Given the description of an element on the screen output the (x, y) to click on. 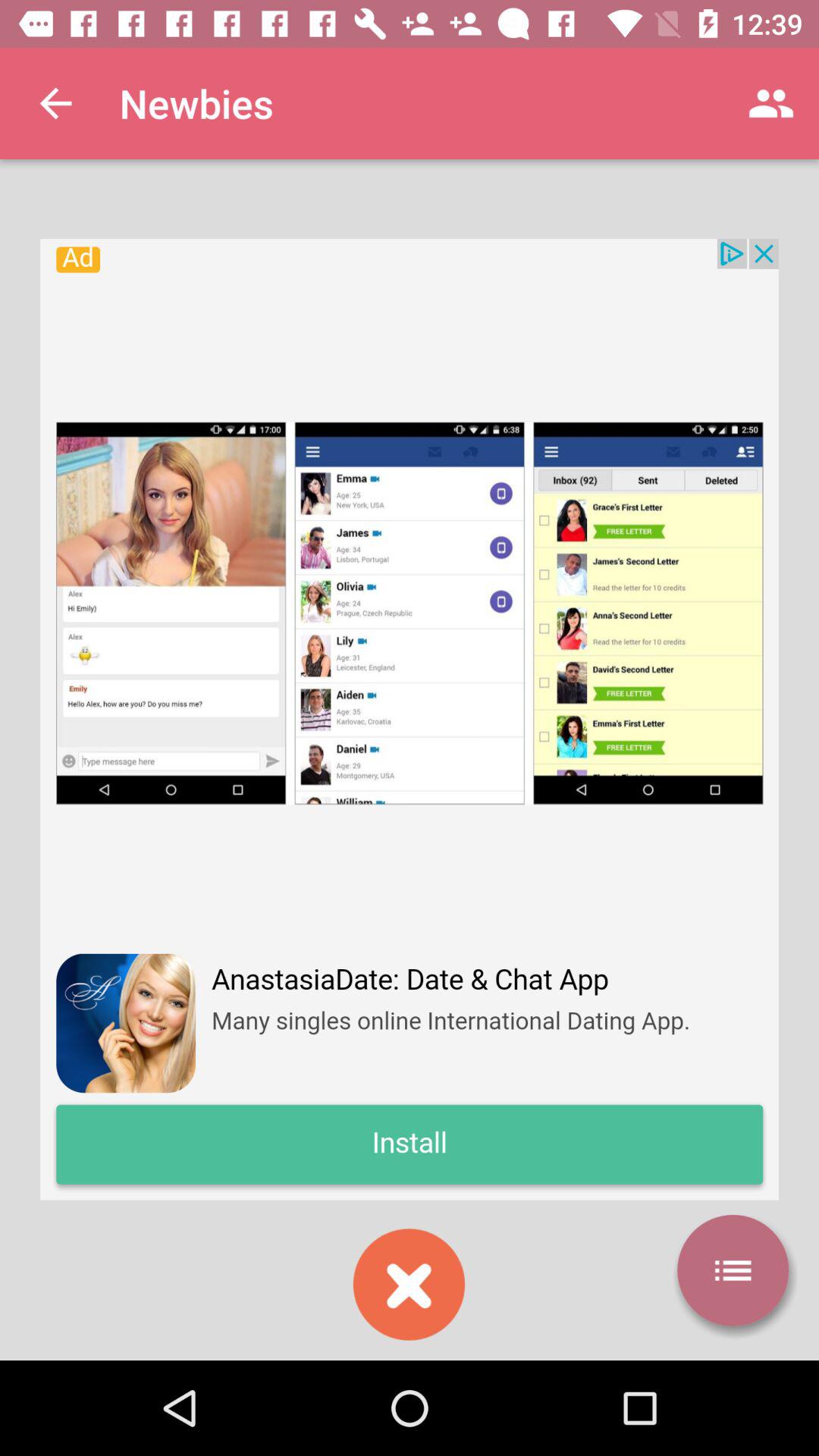
view as a list (733, 1270)
